Given the description of an element on the screen output the (x, y) to click on. 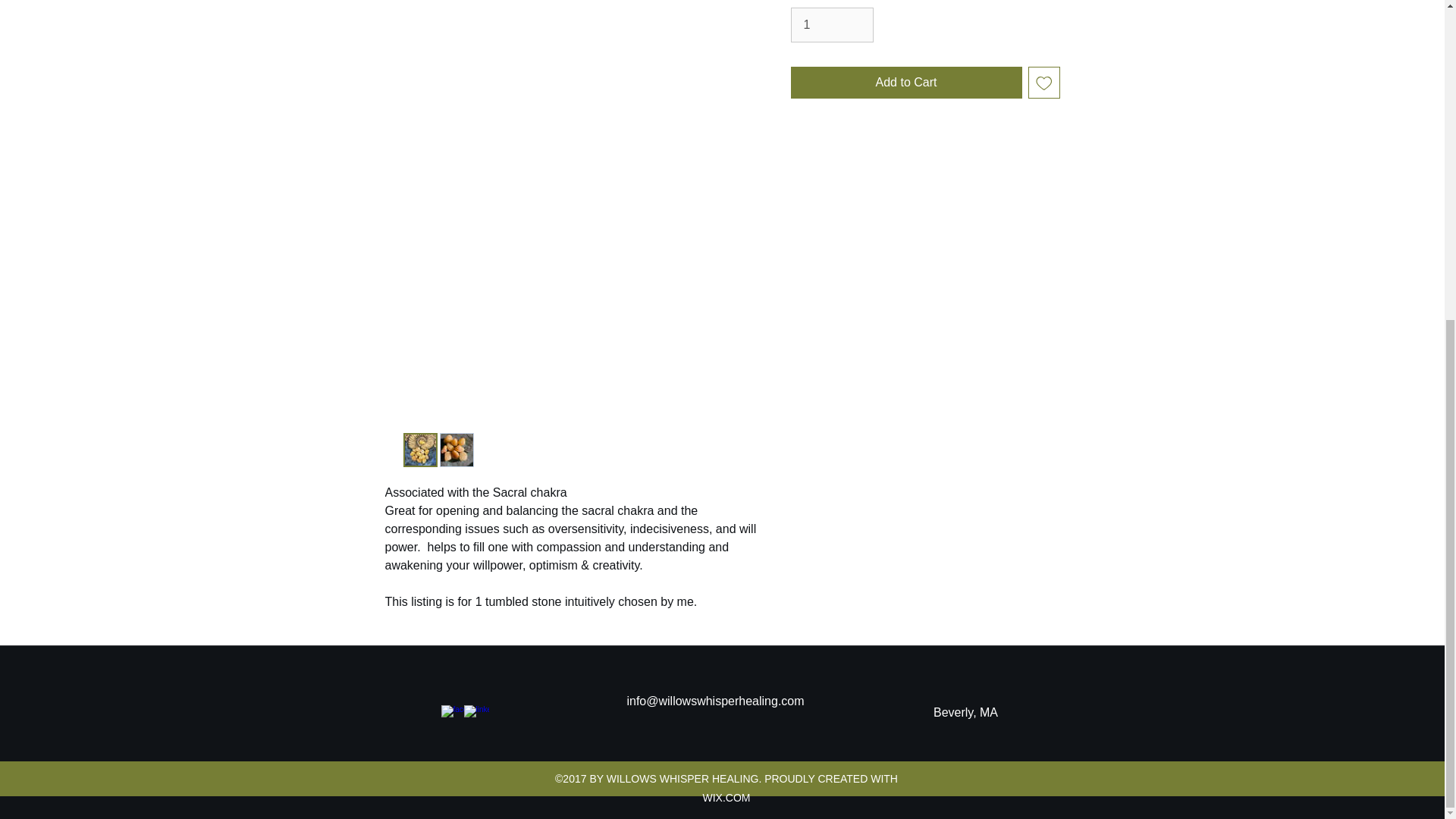
1 (831, 24)
Add to Cart (906, 82)
